Given the description of an element on the screen output the (x, y) to click on. 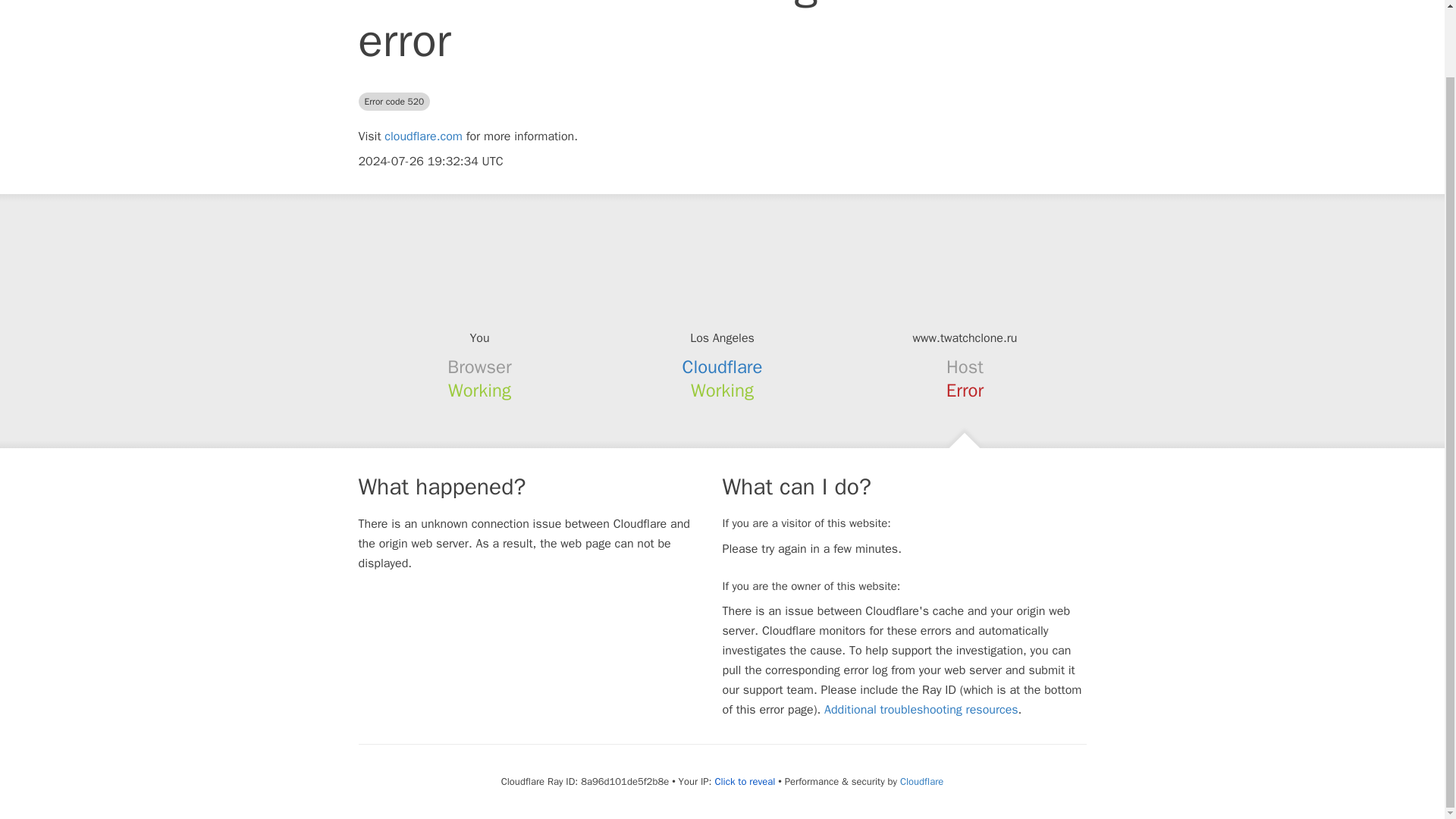
Cloudflare (722, 366)
Cloudflare (921, 780)
Click to reveal (744, 781)
cloudflare.com (423, 136)
Additional troubleshooting resources (920, 709)
